Given the description of an element on the screen output the (x, y) to click on. 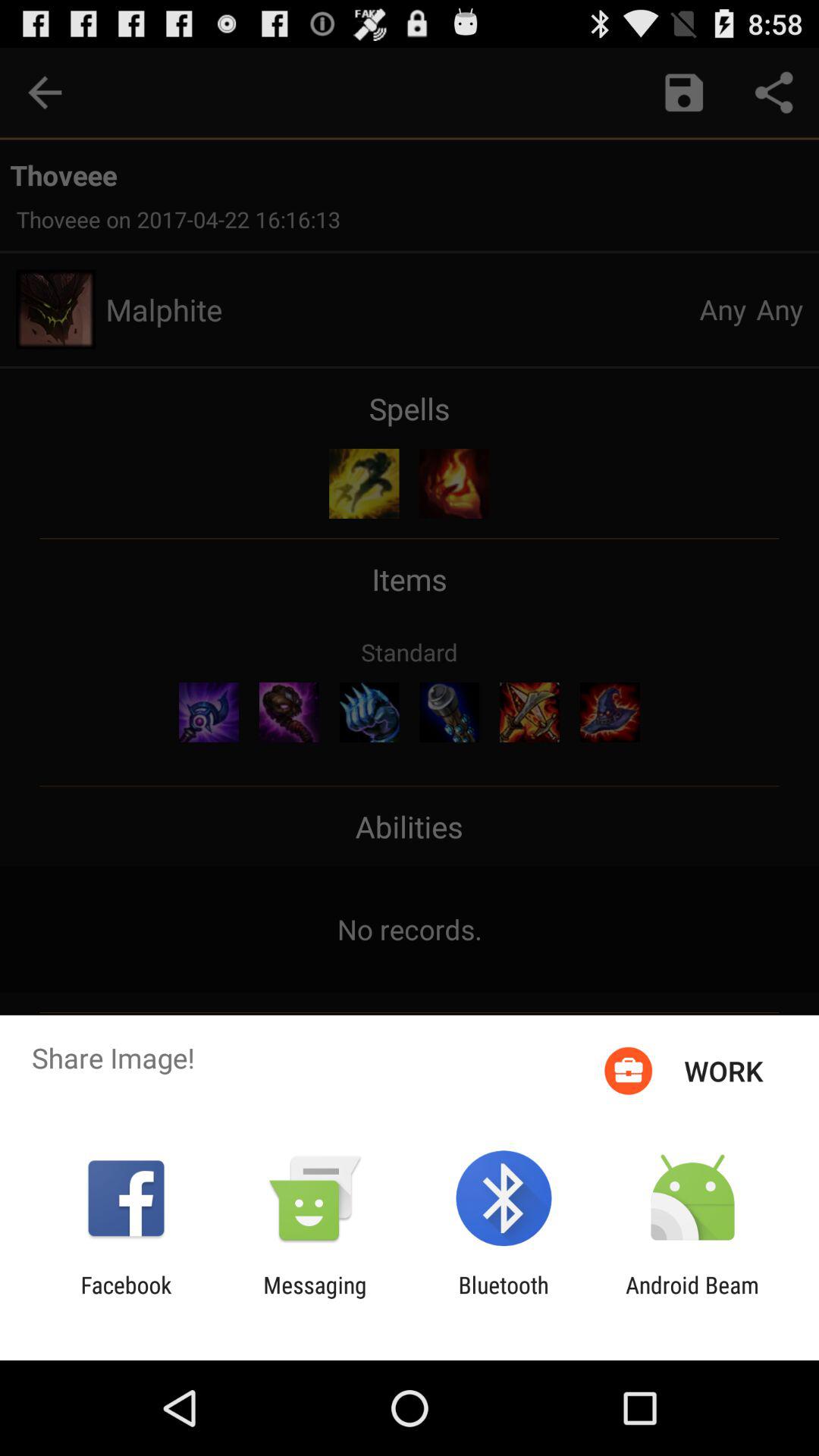
select item to the right of messaging icon (503, 1298)
